Given the description of an element on the screen output the (x, y) to click on. 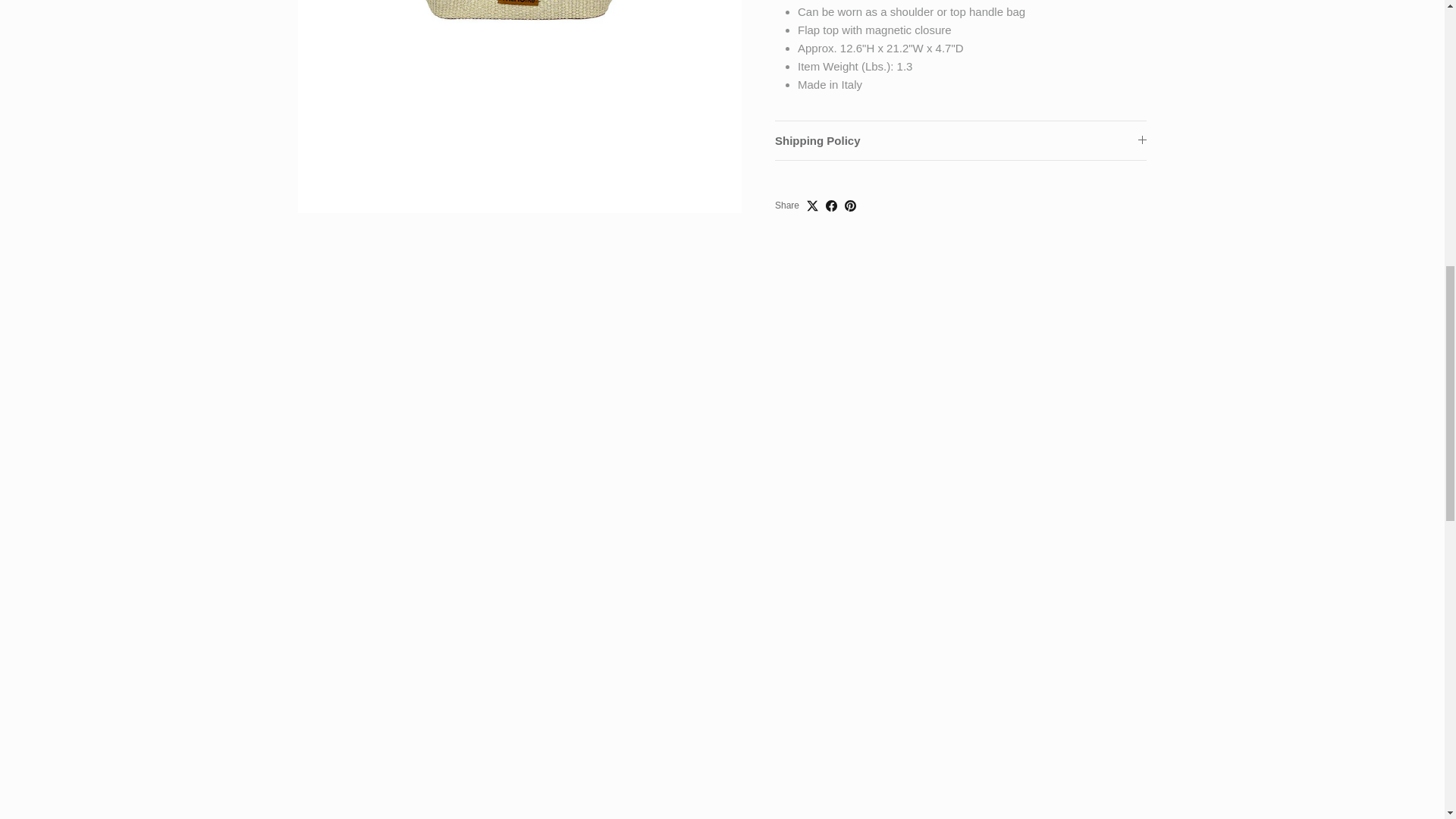
Pin on Pinterest (850, 186)
Tweet on X (812, 186)
Share on Facebook (831, 186)
